Given the description of an element on the screen output the (x, y) to click on. 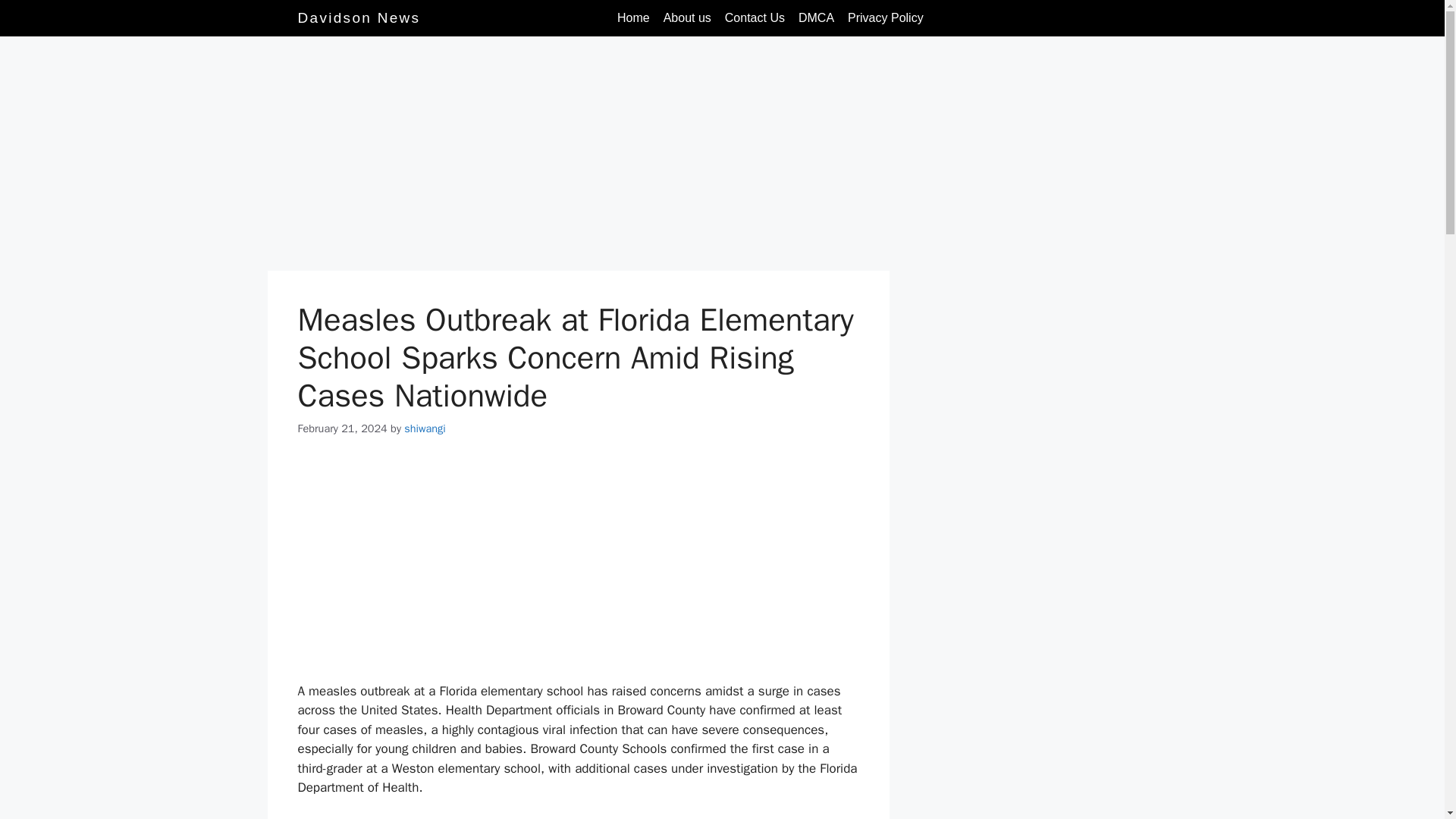
Advertisement (577, 157)
Search (1131, 17)
About us (686, 17)
Home (633, 17)
shiwangi (424, 427)
View all posts by shiwangi (424, 427)
DMCA (816, 17)
Privacy Policy (885, 17)
Davidson News (358, 17)
Advertisement (578, 569)
Contact Us (754, 17)
